Given the description of an element on the screen output the (x, y) to click on. 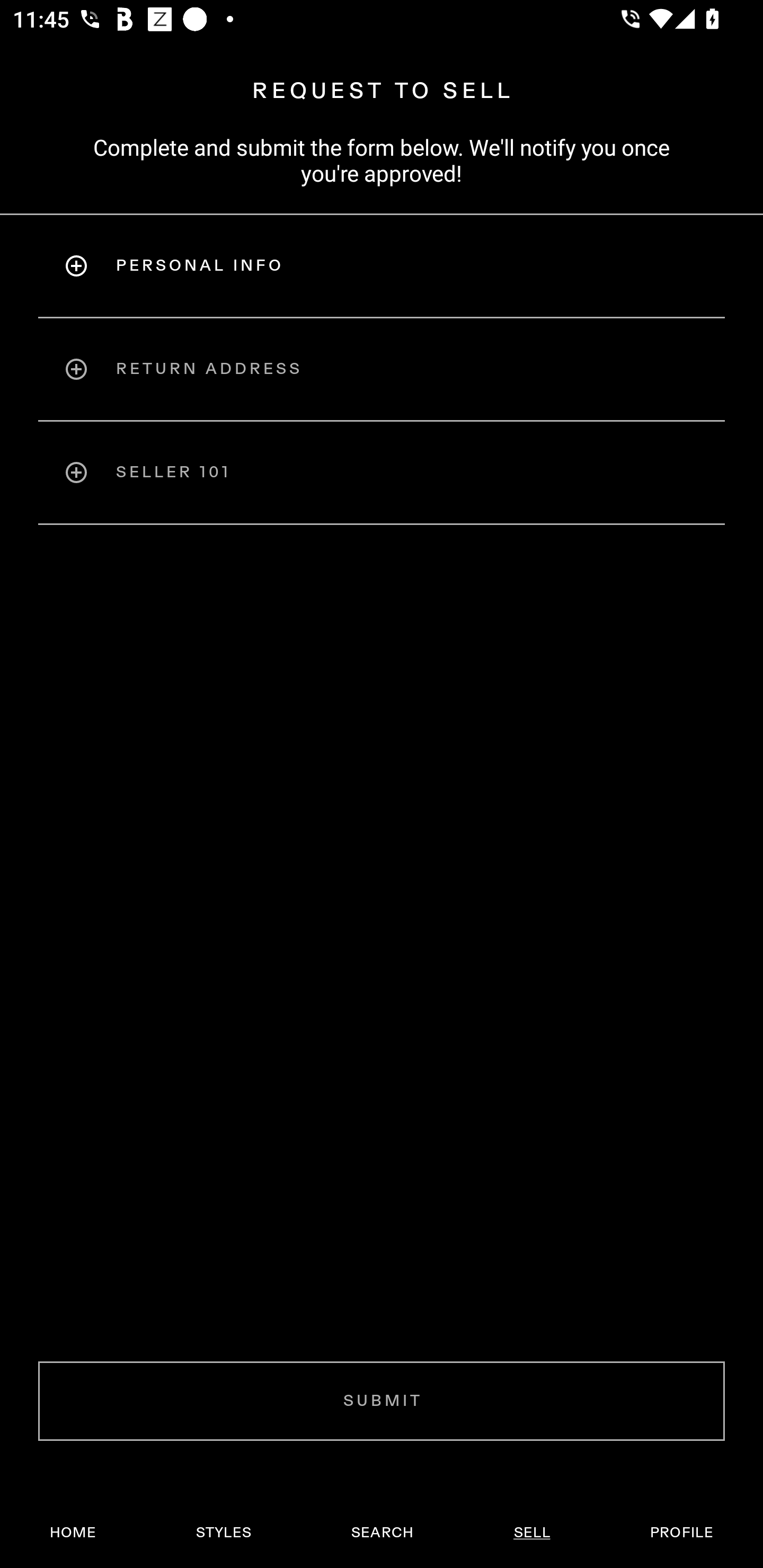
PERSONAL INFO (381, 265)
RETURN ADDRESS (381, 369)
SELLER 101 (381, 472)
SUBMIT (381, 1400)
HOME (72, 1532)
STYLES (222, 1532)
SEARCH (381, 1532)
SELL (531, 1532)
PROFILE (681, 1532)
